Given the description of an element on the screen output the (x, y) to click on. 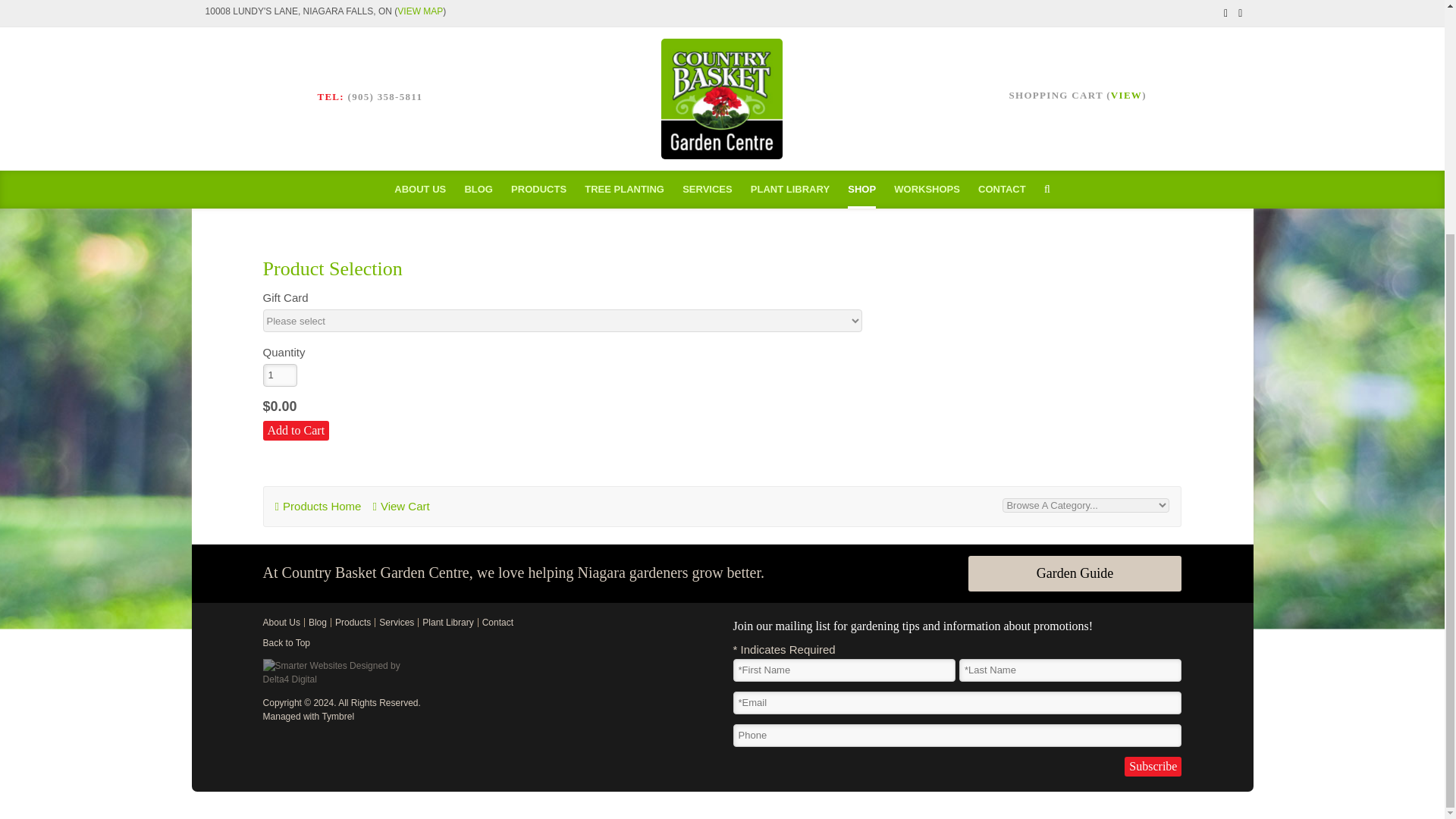
View Cart (400, 505)
Subscribe (1152, 766)
get in touch (575, 152)
Products Home (318, 505)
Add to Cart (296, 430)
1 (280, 374)
Garden Guide (1075, 573)
Add to Cart (296, 430)
